Given the description of an element on the screen output the (x, y) to click on. 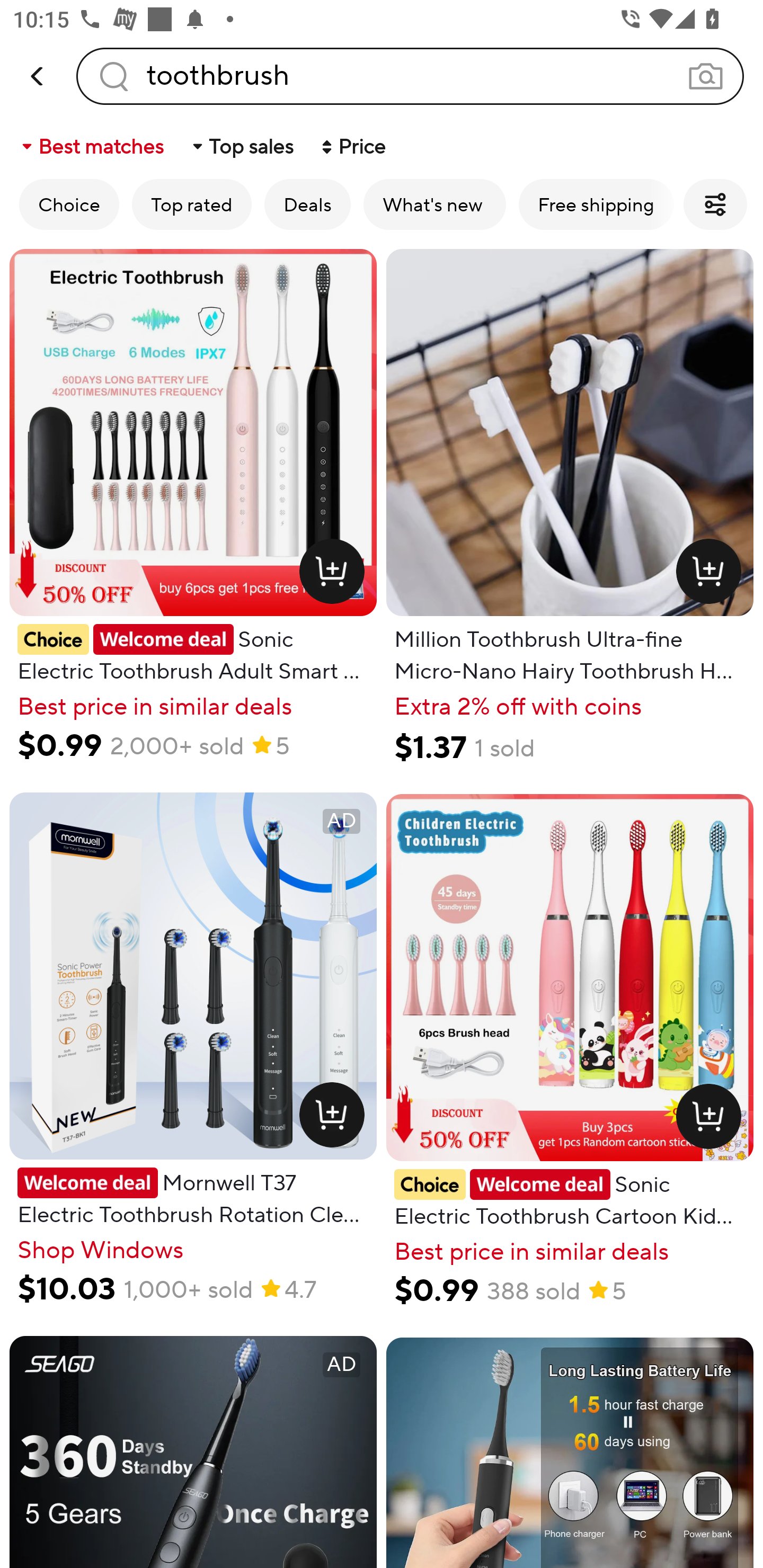
back (38, 75)
toothbrush Search query (409, 76)
toothbrush Search query (409, 76)
Best matches (91, 146)
Top sales (241, 146)
Price (352, 146)
Choice (69, 204)
Top rated (191, 204)
Deals (307, 204)
What's new  (434, 204)
Free shipping (595, 204)
